Given the description of an element on the screen output the (x, y) to click on. 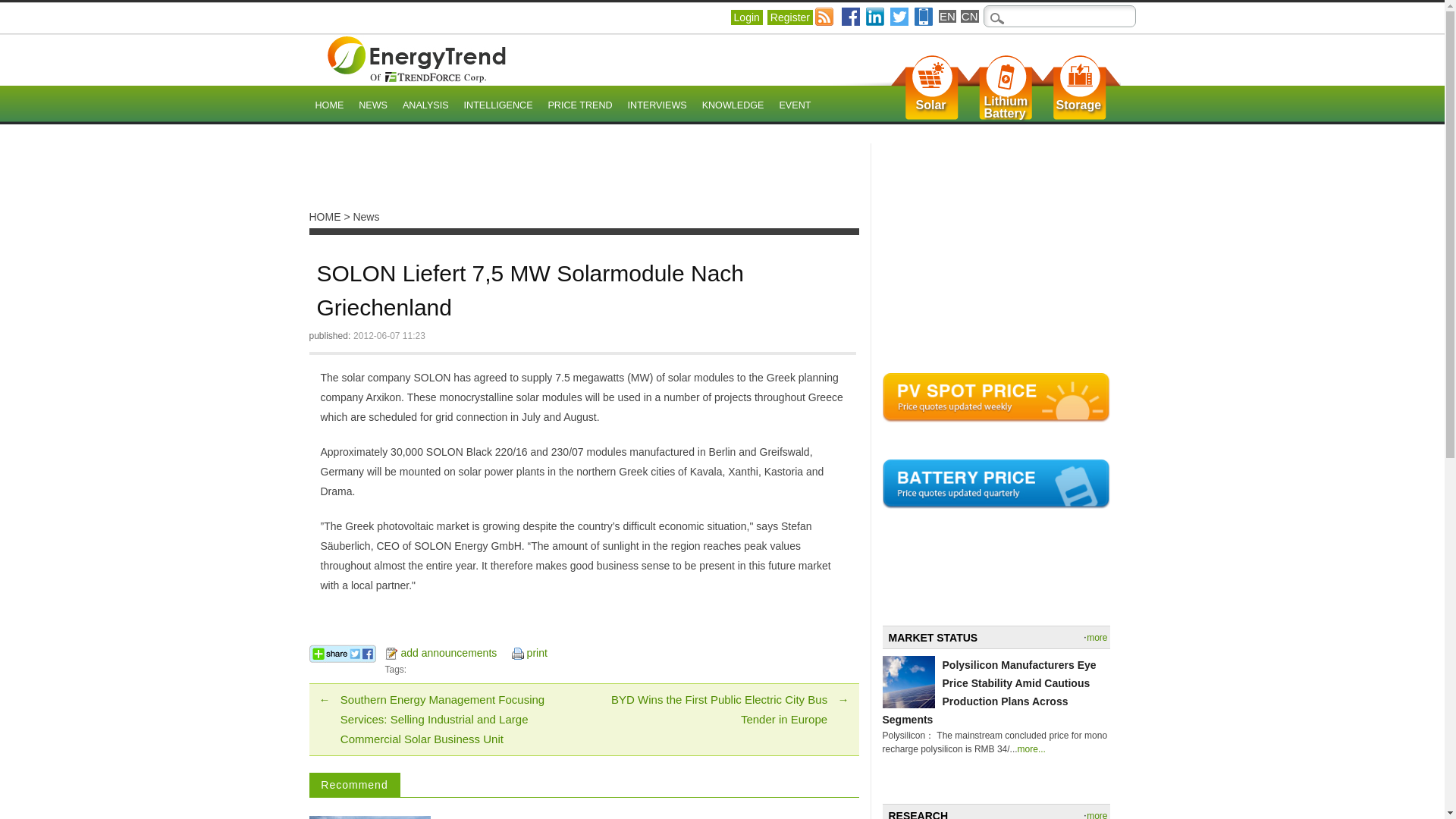
twitter (1005, 107)
3rd party ad content (898, 16)
Register (584, 177)
NEWS (789, 17)
EN (372, 105)
Lithium Battery (947, 15)
Storage (1005, 107)
Solar (1077, 105)
search (930, 105)
RSS (21, 11)
Solar (825, 16)
PRICE TREND (930, 105)
INTELLIGENCE (579, 105)
facebook (498, 105)
